Given the description of an element on the screen output the (x, y) to click on. 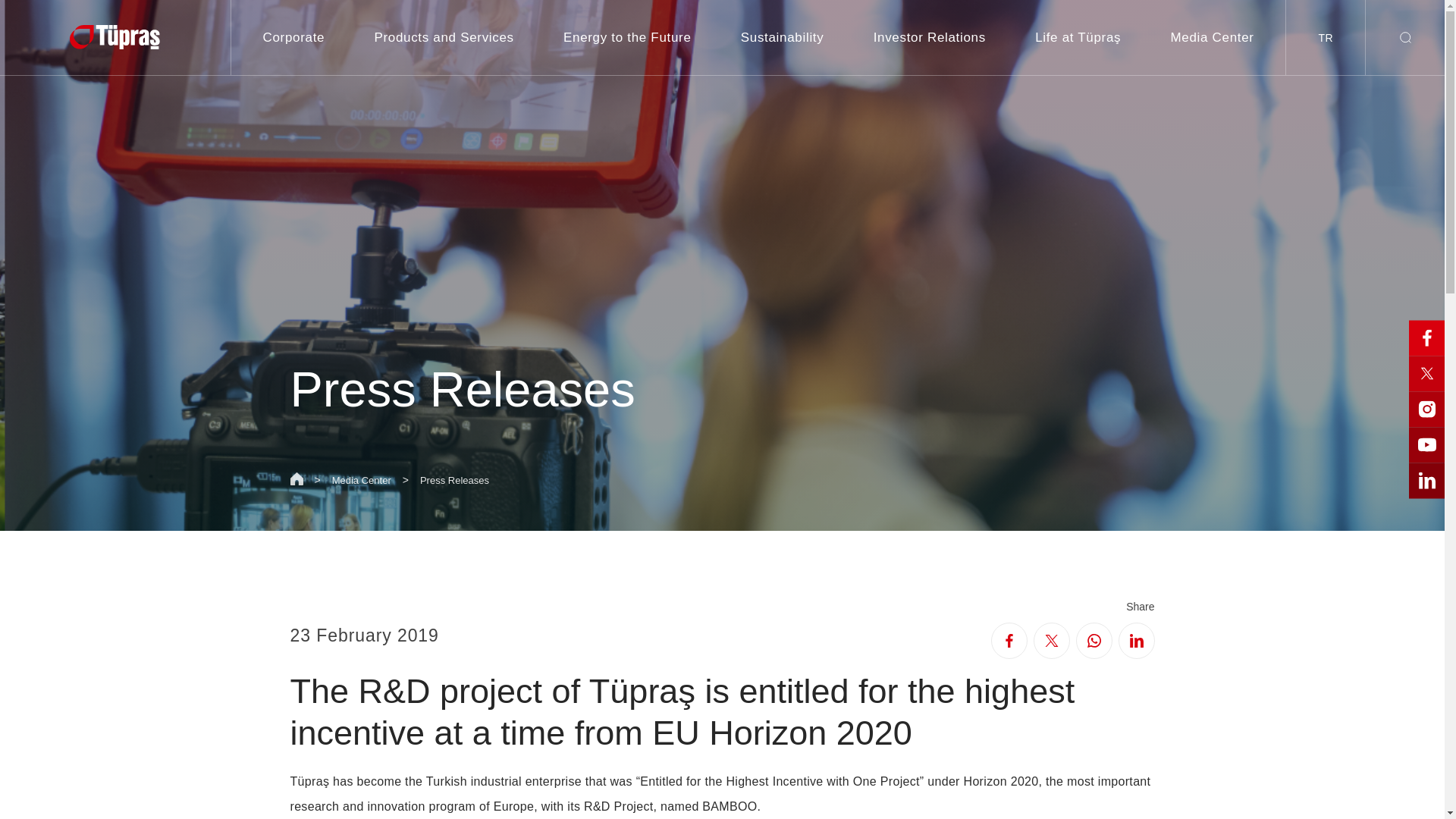
Products and Services (443, 37)
Energy to the Future (627, 37)
Investor Relations (929, 37)
Facebook (1008, 640)
LinkedIn (1136, 640)
Sustainability (782, 37)
Twitter (1050, 640)
